Given the description of an element on the screen output the (x, y) to click on. 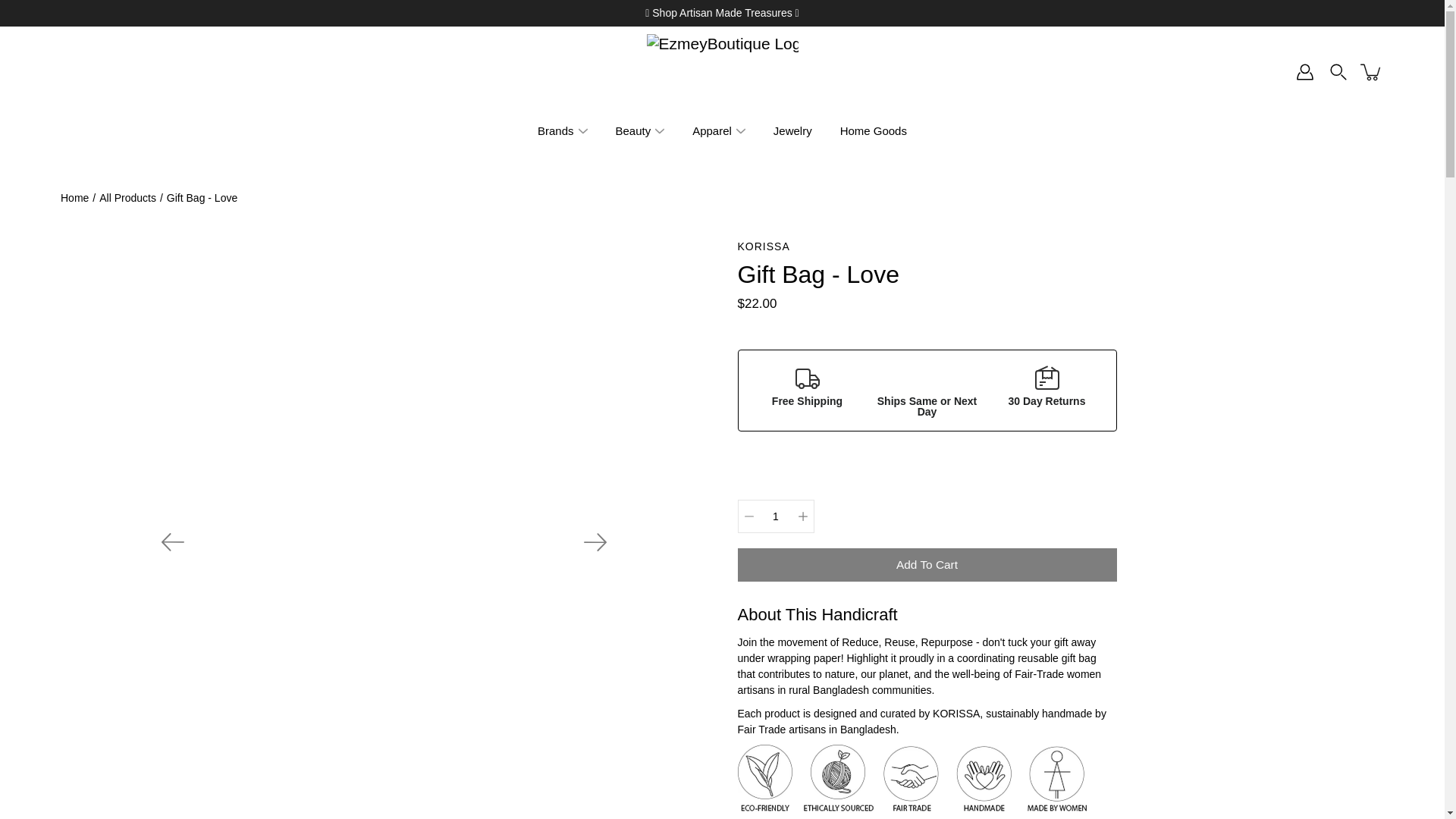
Back to the Homepage (74, 197)
Jewelry (792, 130)
Beauty (632, 130)
Apparel (712, 130)
1 (774, 516)
Home Goods (873, 130)
Brands (555, 130)
